Given the description of an element on the screen output the (x, y) to click on. 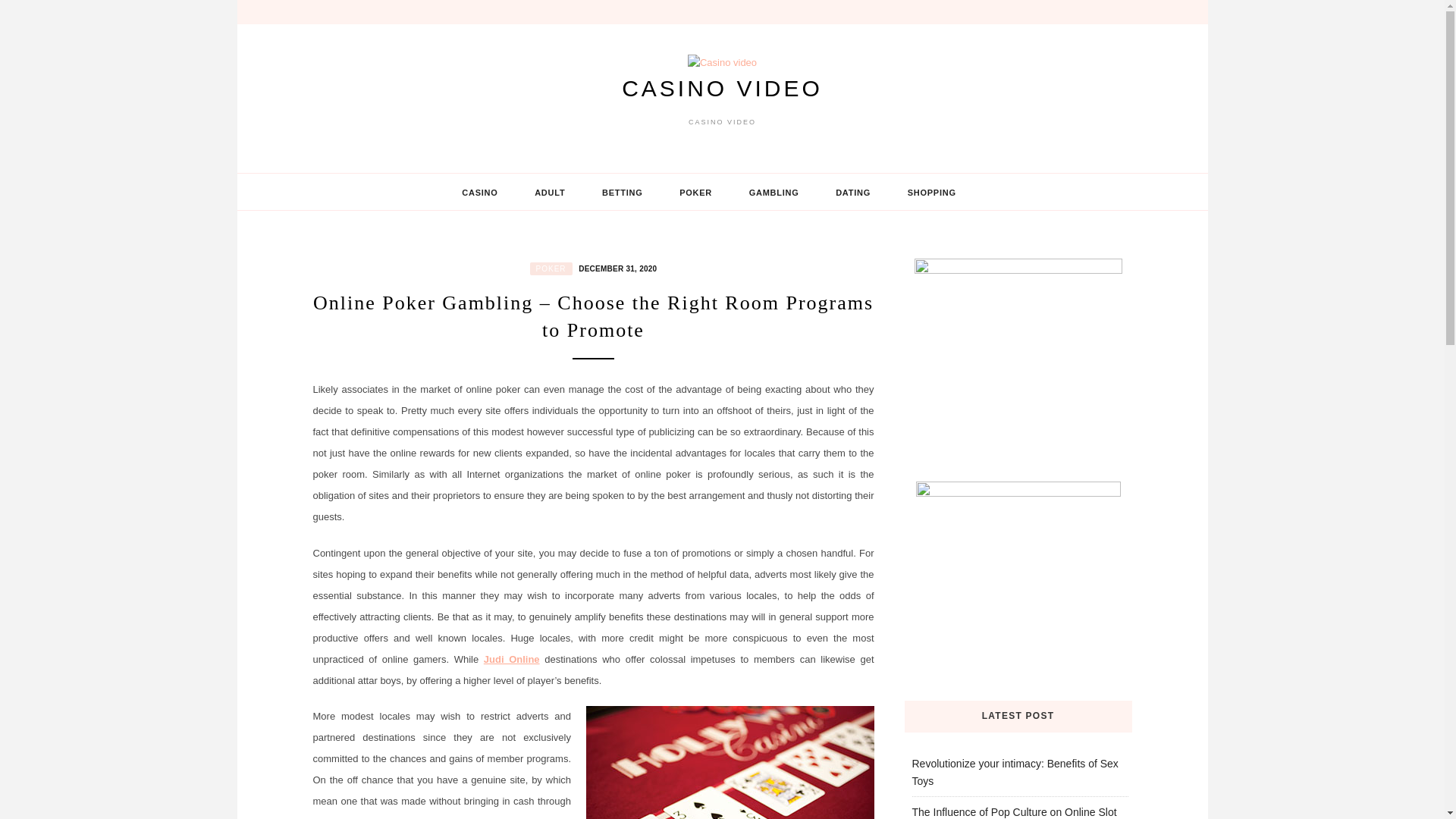
DATING (853, 192)
CASINO (479, 192)
Revolutionize your intimacy: Benefits of Sex Toys (1014, 772)
GAMBLING (774, 192)
DECEMBER 31, 2020 (615, 267)
Judi Online (511, 659)
SHOPPING (931, 192)
POKER (695, 192)
ADULT (550, 192)
CASINO VIDEO (721, 88)
POKER (550, 268)
BETTING (622, 192)
The Influence of Pop Culture on Online Slot Themes Guarantee (1013, 812)
